Given the description of an element on the screen output the (x, y) to click on. 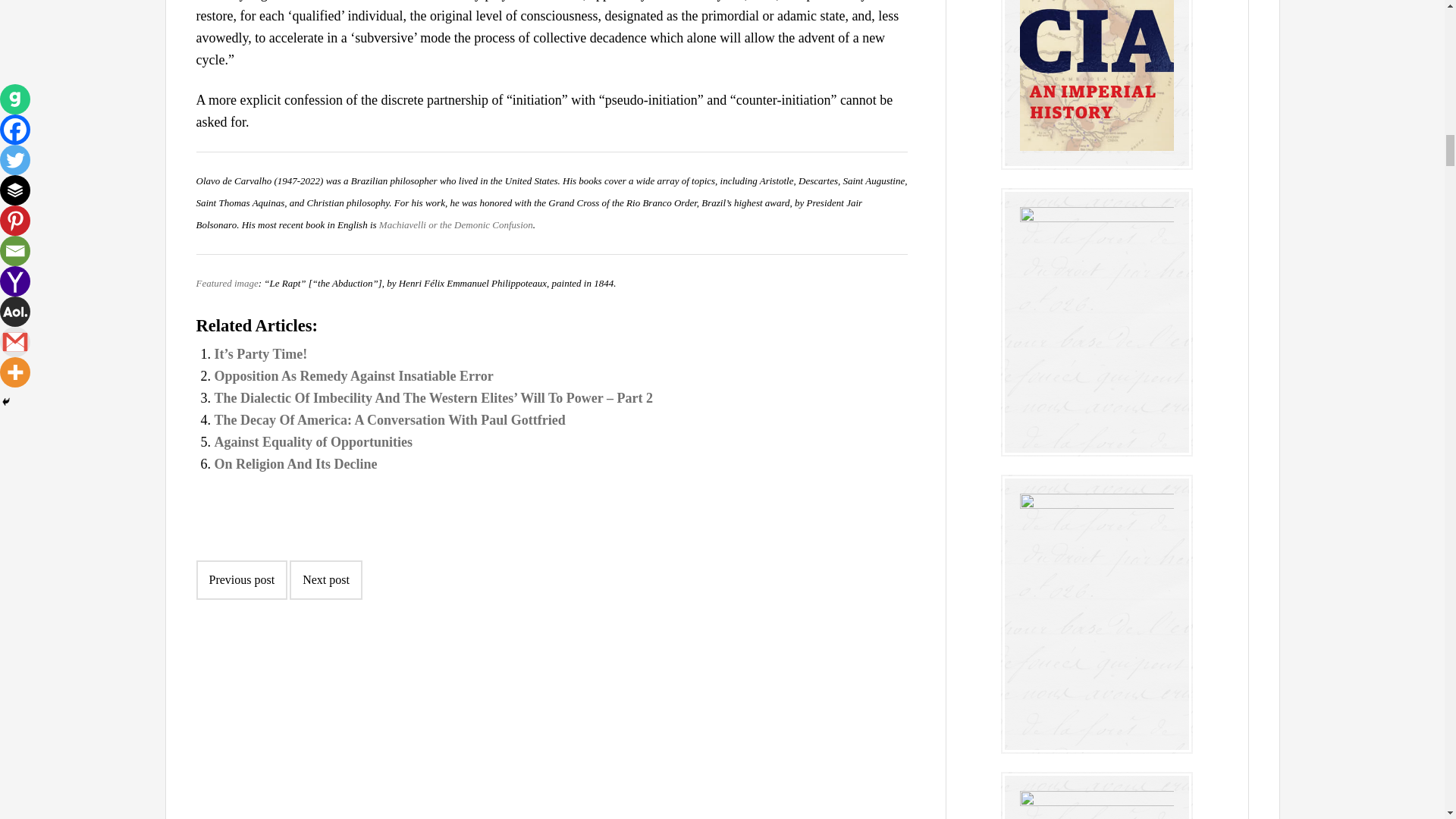
Featured image (226, 283)
Opposition As Remedy Against Insatiable Error (353, 376)
Machiavelli or the Demonic Confusion (455, 224)
